Given the description of an element on the screen output the (x, y) to click on. 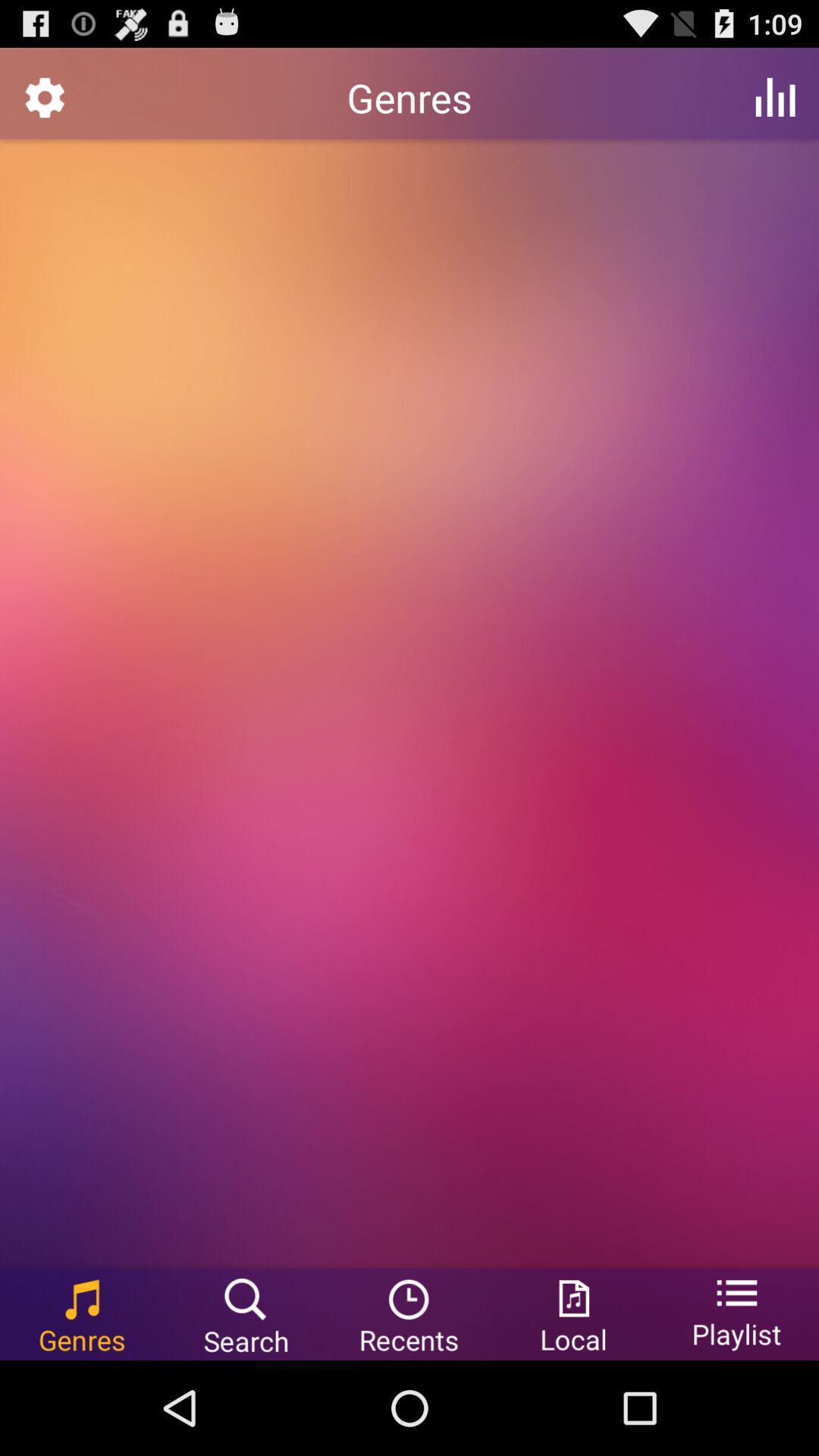
select icon at the top right corner (775, 96)
